Given the description of an element on the screen output the (x, y) to click on. 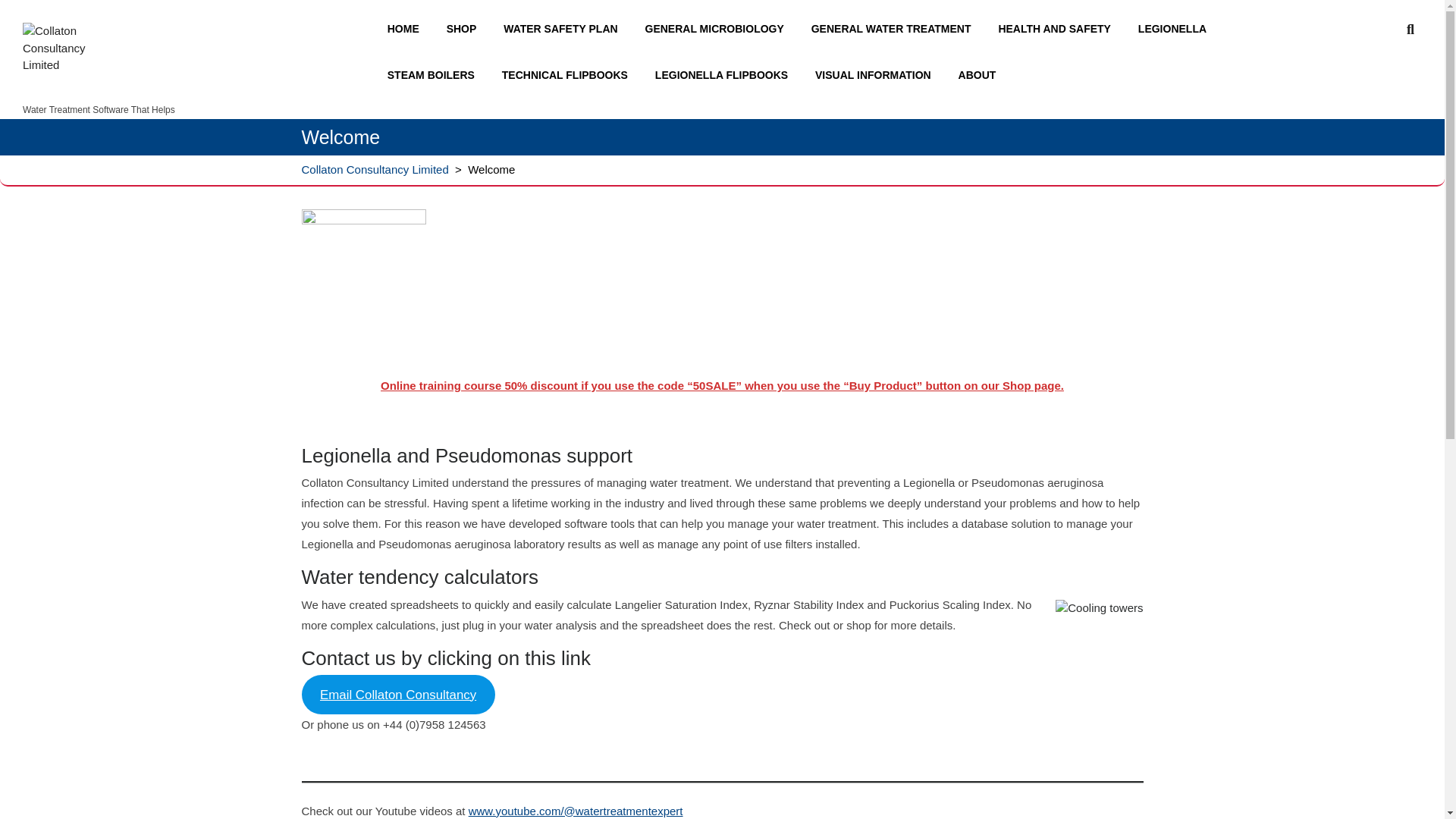
Collaton Consultancy Limited (156, 92)
HOME (405, 28)
STEAM BOILERS (433, 75)
GENERAL WATER TREATMENT (894, 28)
GENERAL MICROBIOLOGY (715, 28)
ABOUT (980, 75)
LEGIONELLA (1175, 28)
TECHNICAL FLIPBOOKS (568, 75)
VISUAL INFORMATION (876, 75)
LEGIONELLA FLIPBOOKS (724, 75)
